Given the description of an element on the screen output the (x, y) to click on. 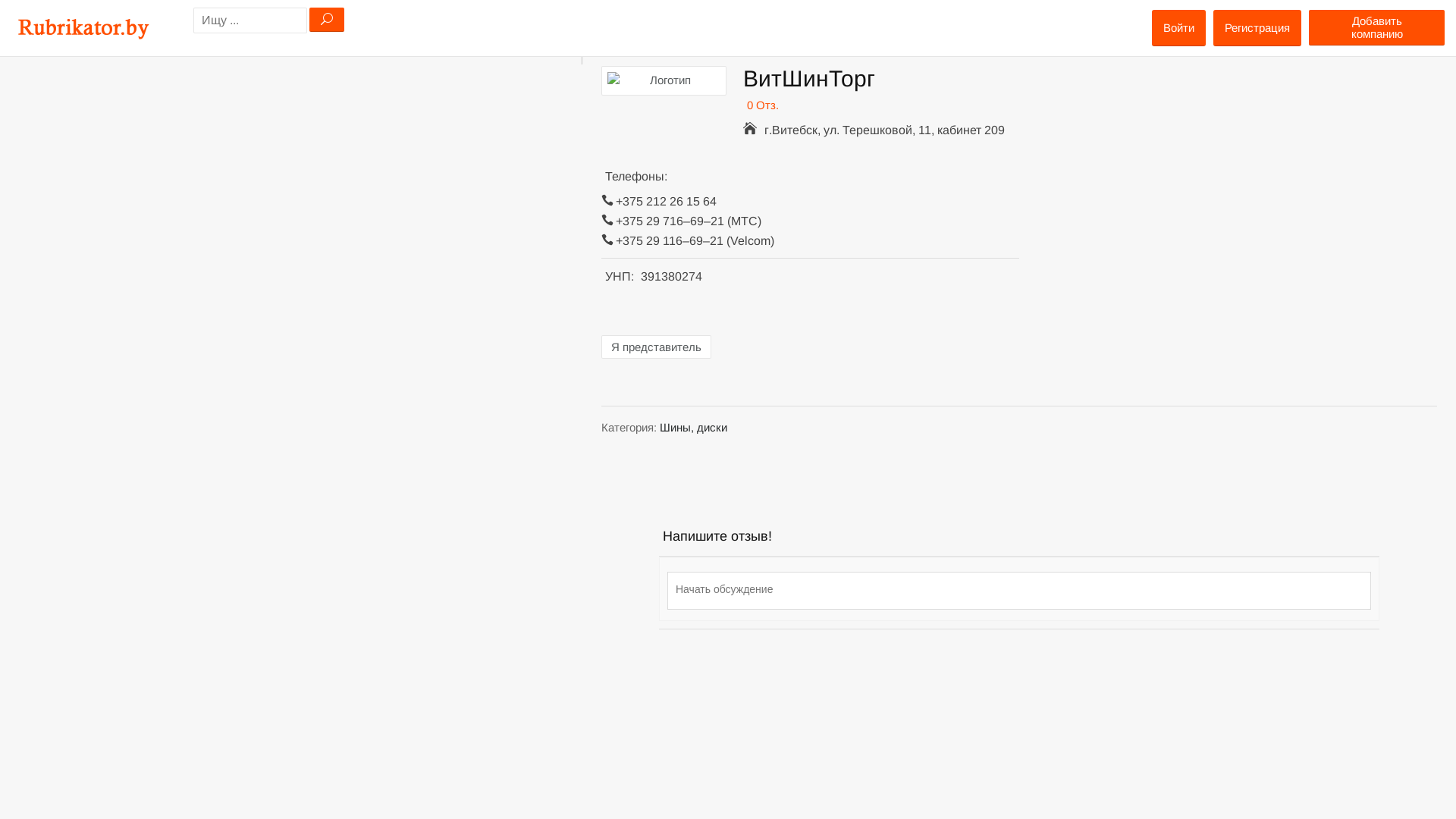
U Element type: text (326, 19)
